Given the description of an element on the screen output the (x, y) to click on. 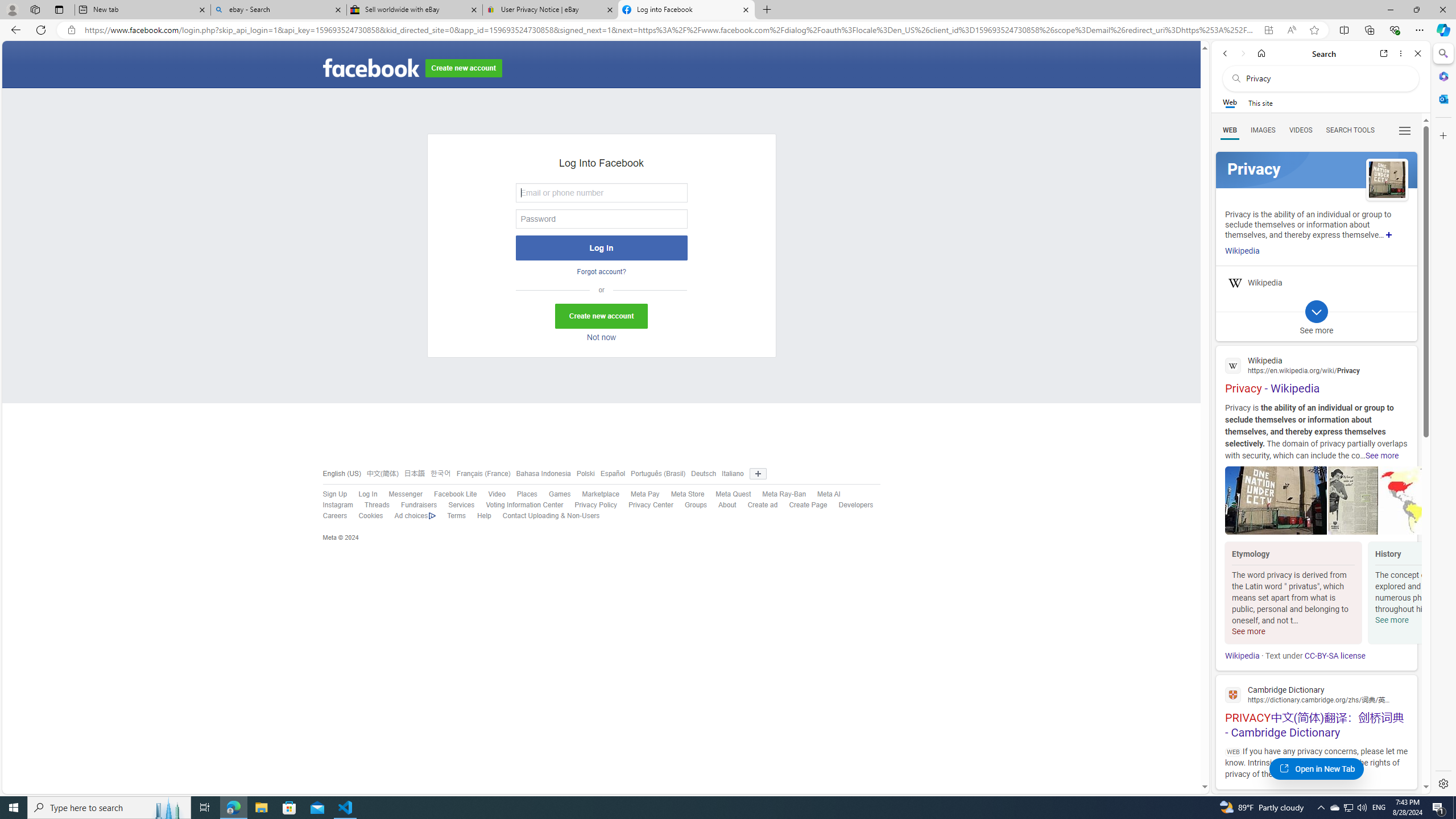
Help (478, 516)
Create ad (756, 505)
Web scope (1230, 102)
Meta AI (823, 494)
Bahasa Indonesia (539, 473)
Developers (855, 505)
Click to scroll right (1407, 594)
Meta Ray-Ban (778, 494)
Not now (600, 338)
Messenger (399, 494)
Log into Facebook (685, 9)
